Given the description of an element on the screen output the (x, y) to click on. 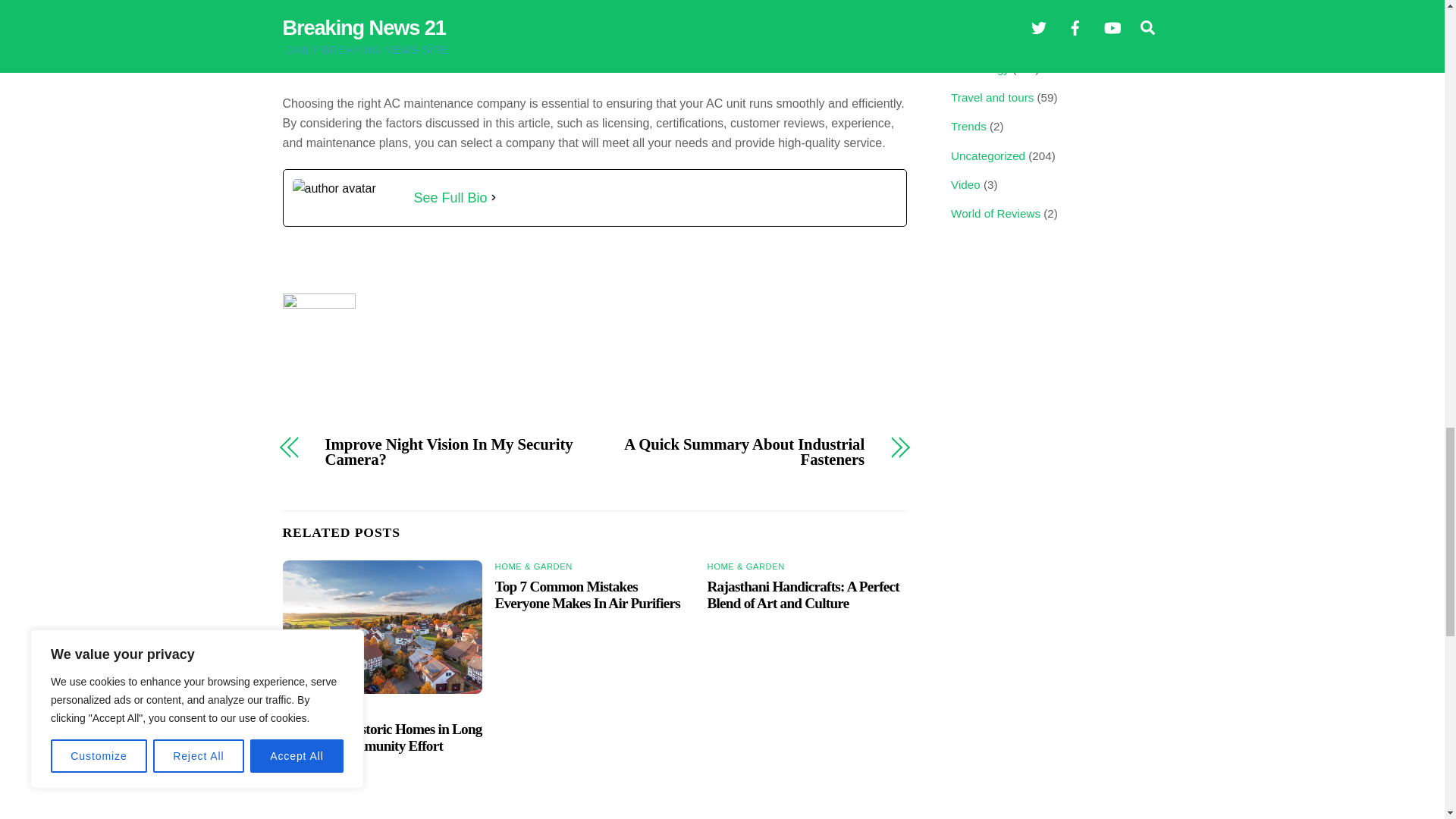
See Full Bio (450, 198)
A Quick Summary About Industrial Fasteners (738, 452)
Improve Night Vision In My Security Camera? (449, 452)
Rajasthani Handicrafts: A Perfect Blend of Art and Culture (803, 594)
Preserving Historic Homes in Long Beach: A Community Effort (381, 626)
Top 7 Common Mistakes Everyone Makes In Air Purifiers (587, 594)
Preserving Historic Homes in Long Beach: A Community Effort (381, 737)
